Given the description of an element on the screen output the (x, y) to click on. 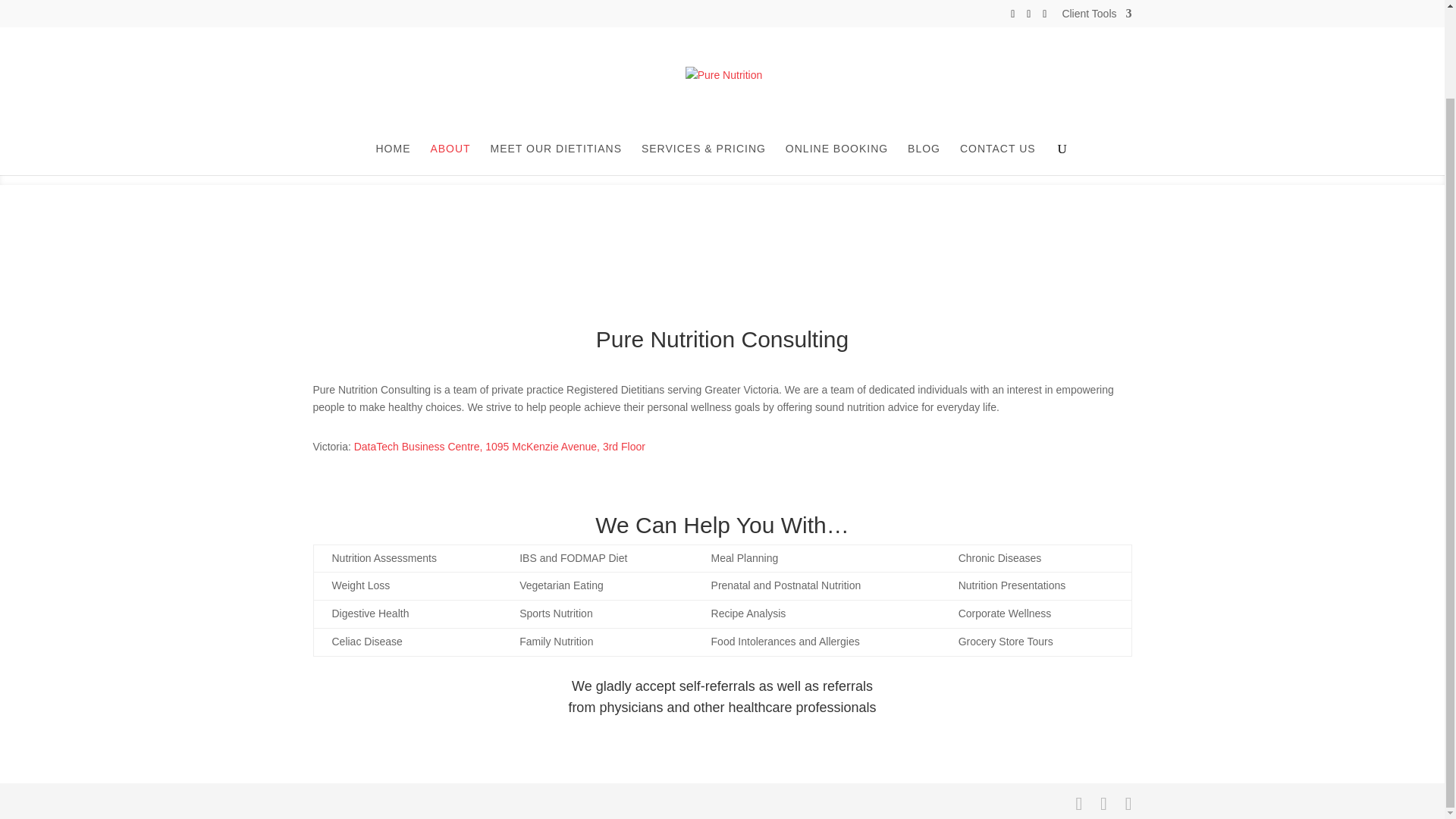
DataTech Business Centre, 1095 McKenzie Avenue, 3rd Floor (499, 446)
CONTACT US (997, 58)
HOME (392, 58)
MEET OUR DIETITIANS (555, 58)
ONLINE BOOKING (837, 58)
ABOUT (449, 58)
BLOG (923, 58)
